Given the description of an element on the screen output the (x, y) to click on. 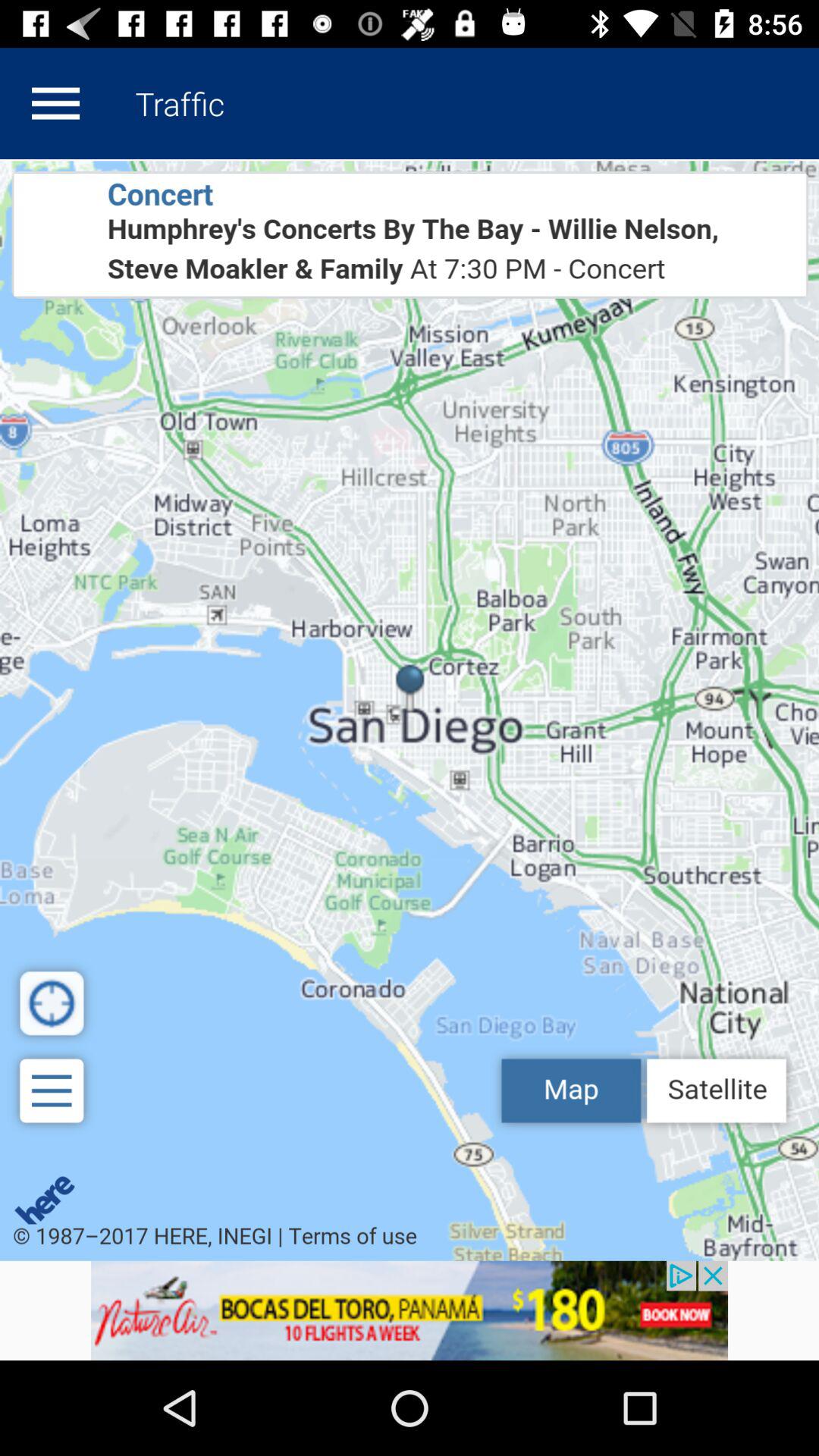
menu option (55, 103)
